Given the description of an element on the screen output the (x, y) to click on. 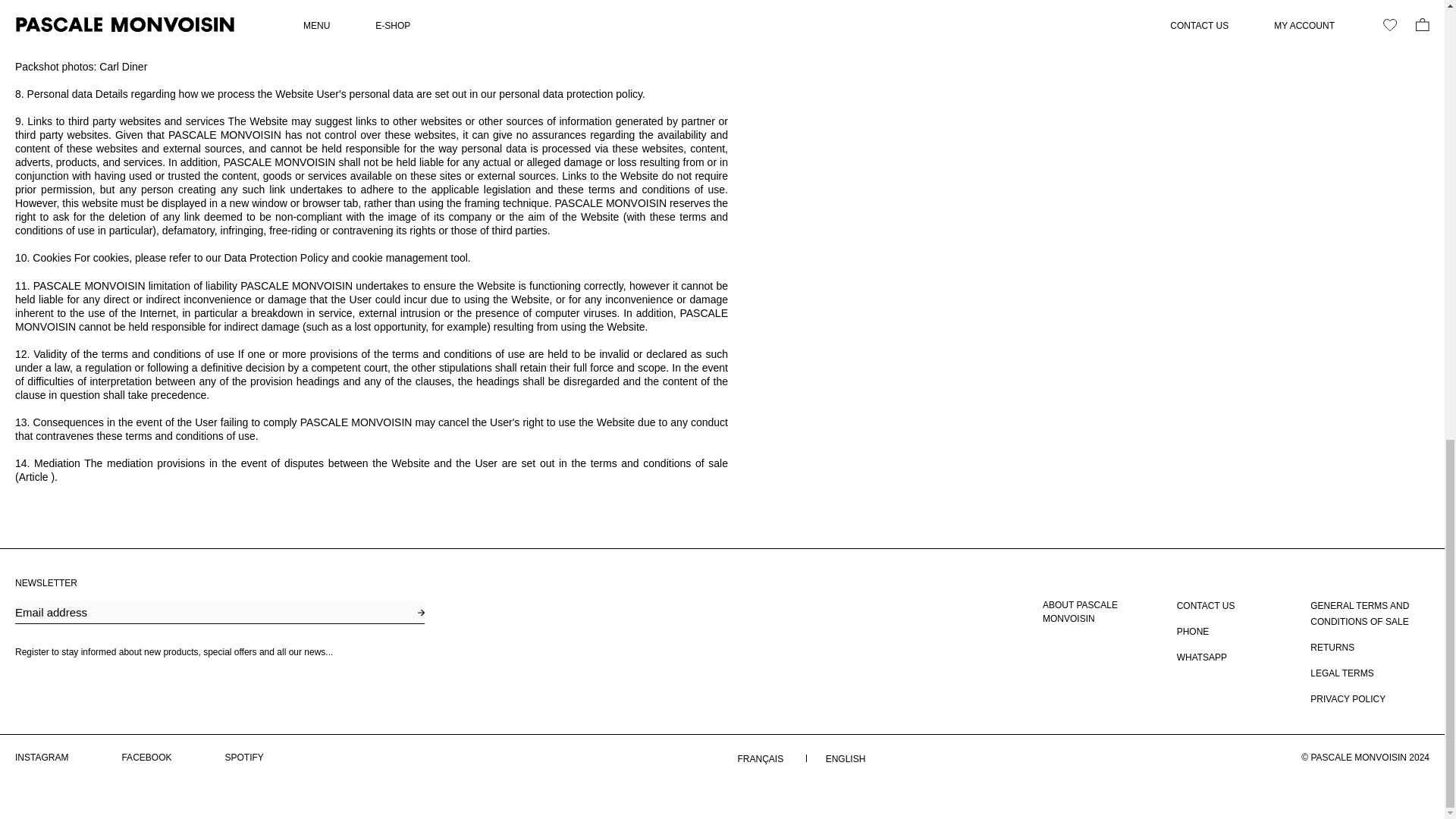
GENERAL TERMS AND CONDITIONS OF SALE (1369, 613)
CONTACT US (1205, 606)
WHATSAPP (1201, 657)
RETURNS (1332, 647)
PHONE (1192, 631)
ABOUT PASCALE MONVOISIN (1101, 611)
